Given the description of an element on the screen output the (x, y) to click on. 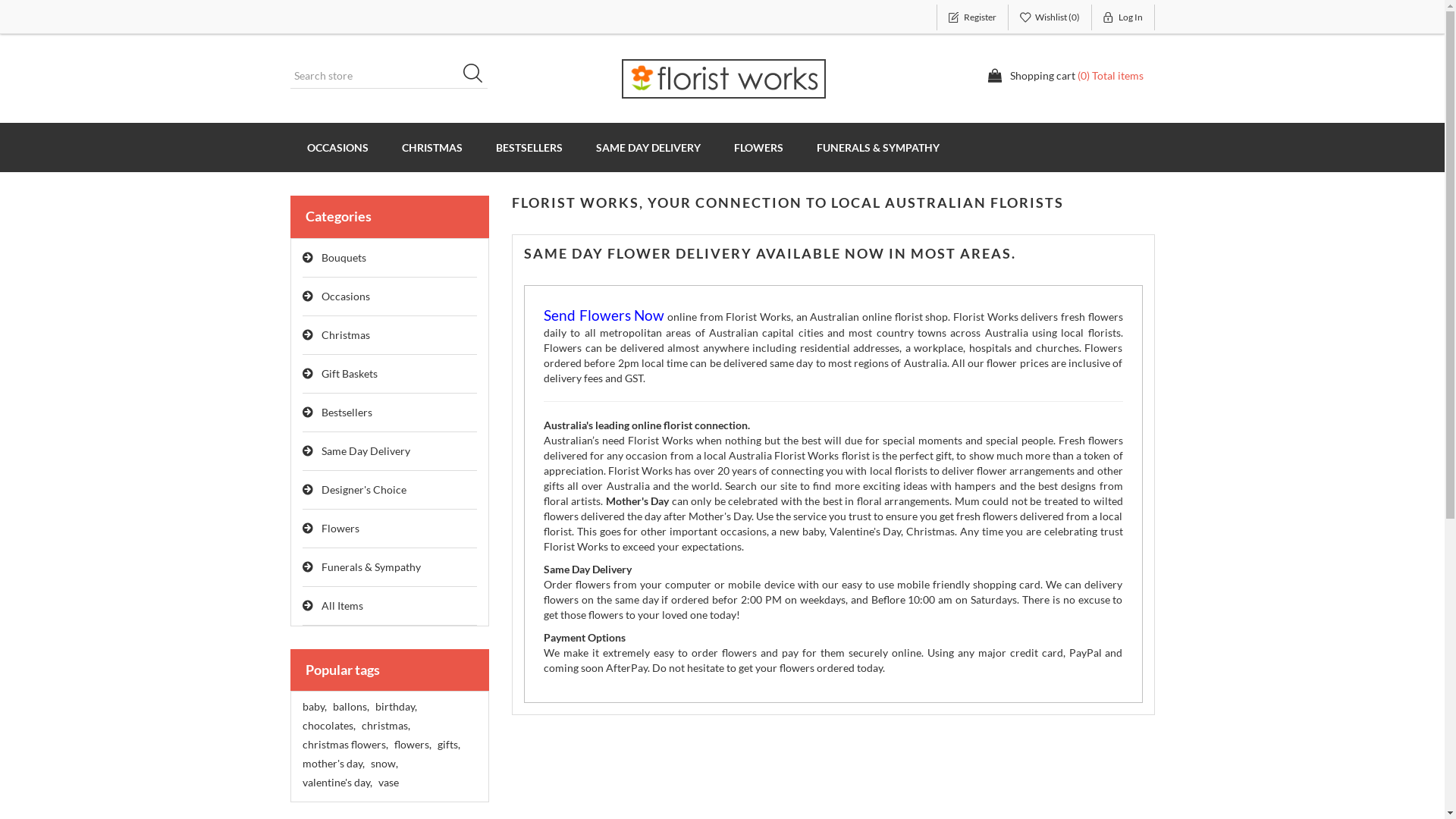
Designer's Choice Element type: text (388, 489)
Occasions Element type: text (388, 296)
Bestsellers Element type: text (388, 412)
FLOWERS Element type: text (758, 147)
Funerals & Sympathy Element type: text (388, 567)
Register Element type: text (971, 17)
Send Flowers Now Element type: text (603, 316)
Bouquets Element type: text (388, 257)
Wishlist (0) Element type: text (1050, 17)
OCCASIONS Element type: text (336, 147)
Shopping cart (0) Total items Element type: text (1065, 75)
FUNERALS & SYMPATHY Element type: text (877, 147)
CHRISTMAS Element type: text (432, 147)
christmas flowers, Element type: text (344, 744)
mother's day, Element type: text (332, 763)
Flowers Element type: text (388, 528)
flowers, Element type: text (412, 744)
valentine's day, Element type: text (336, 782)
Same Day Delivery Element type: text (388, 451)
SAME DAY DELIVERY Element type: text (648, 147)
snow, Element type: text (383, 763)
All Items Element type: text (388, 605)
Gift Baskets Element type: text (388, 373)
vase Element type: text (387, 782)
Christmas Element type: text (388, 335)
Log In Element type: text (1123, 17)
chocolates, Element type: text (327, 725)
BESTSELLERS Element type: text (529, 147)
baby, Element type: text (313, 706)
christmas, Element type: text (384, 725)
birthday, Element type: text (395, 706)
ballons, Element type: text (350, 706)
gifts, Element type: text (447, 744)
